Given the description of an element on the screen output the (x, y) to click on. 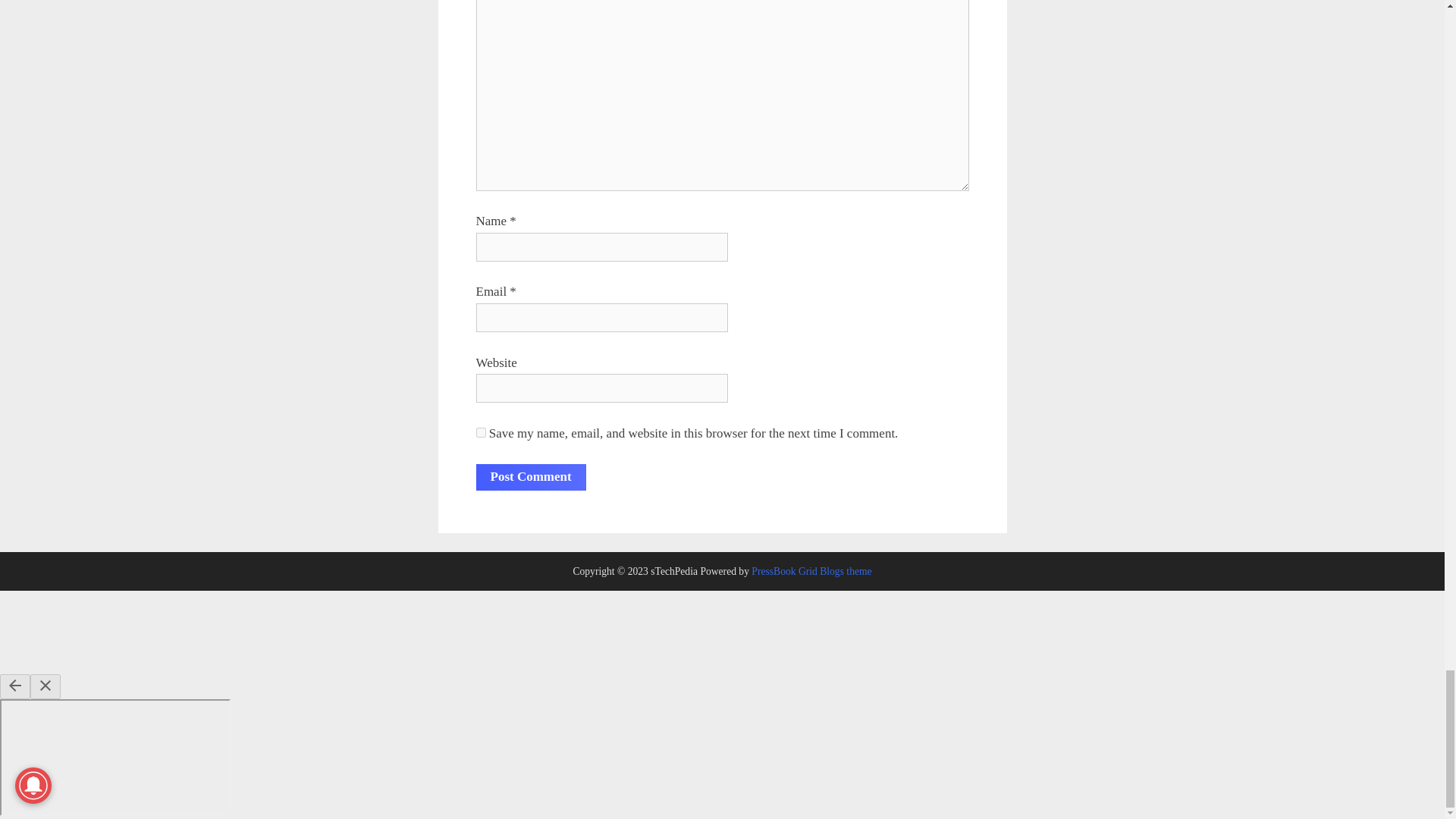
PressBook Grid Blogs theme (810, 571)
yes (481, 432)
Post Comment (531, 477)
Post Comment (531, 477)
